Given the description of an element on the screen output the (x, y) to click on. 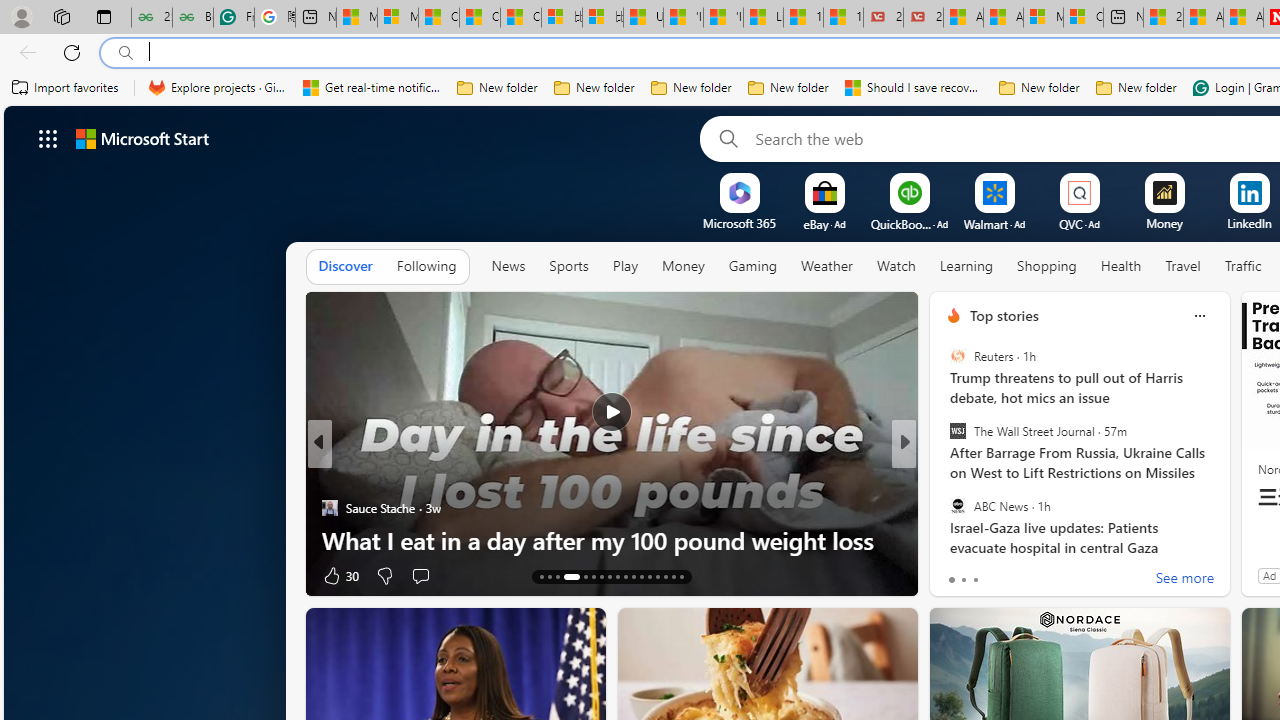
AutomationID: tab-22 (624, 576)
83 Like (956, 574)
AutomationID: tab-23 (632, 576)
What I eat in a day after my 100 pound weight loss (611, 539)
Daily Meal (944, 475)
AutomationID: tab-26 (656, 576)
63 Like (956, 574)
House Beautiful (944, 475)
Microsoft Services Agreement (1043, 17)
Shopping (1046, 267)
AutomationID: tab-28 (673, 576)
